Given the description of an element on the screen output the (x, y) to click on. 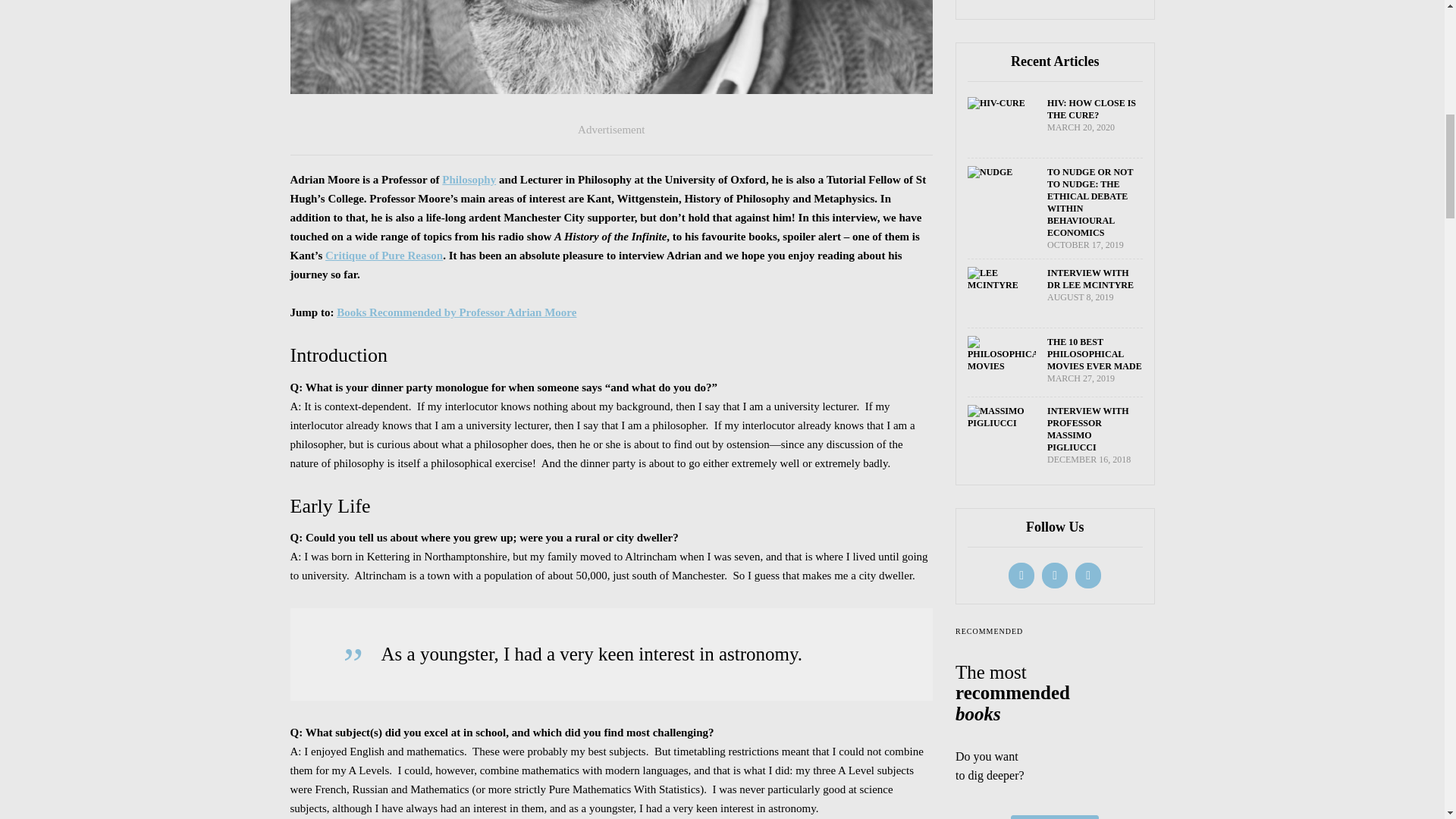
Critique of Pure Reason (383, 255)
Books Recommended by Professor Adrian Moore (456, 312)
Philosophy (469, 179)
